Given the description of an element on the screen output the (x, y) to click on. 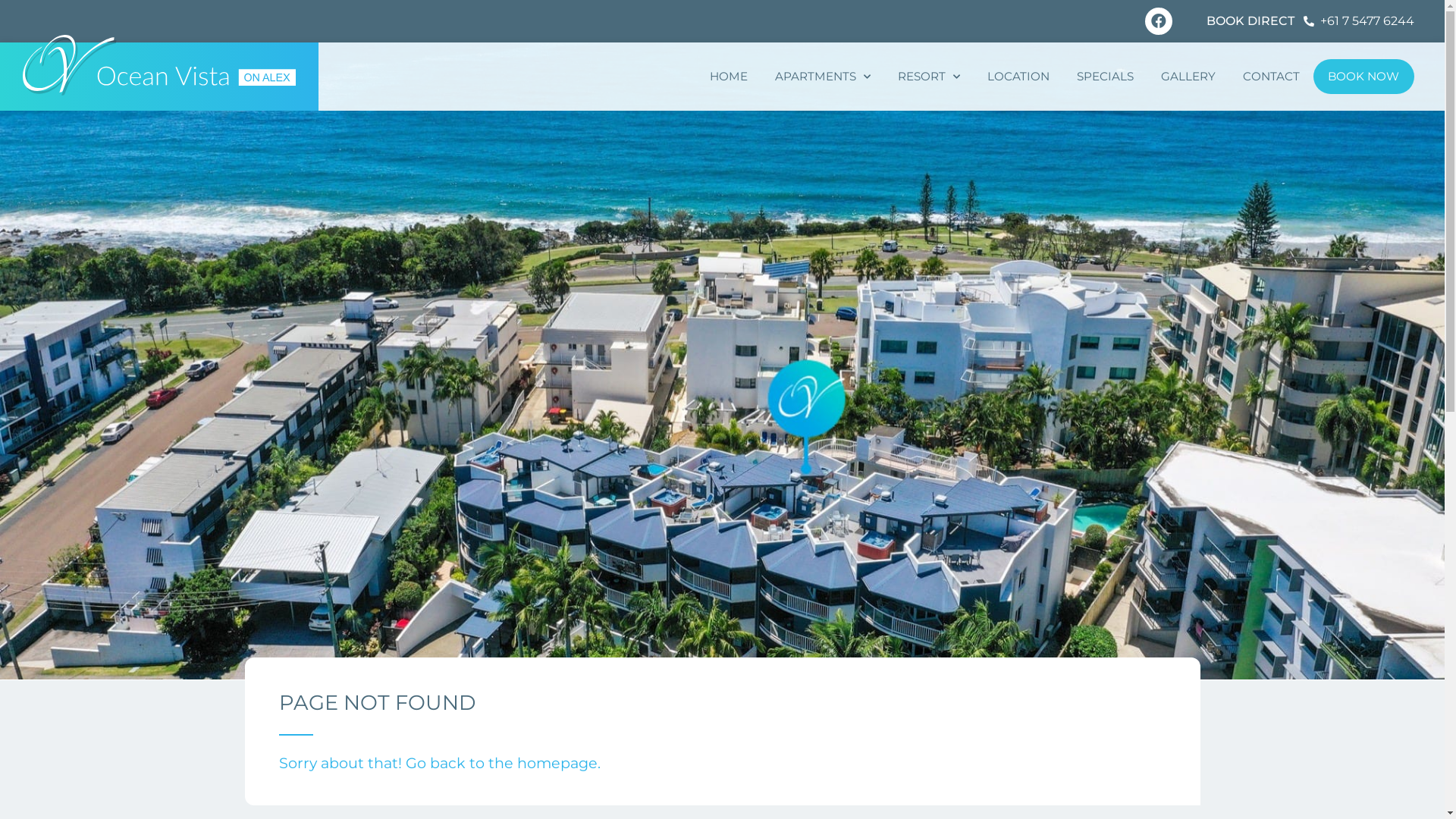
Sorry about that! Go back to the homepage. Element type: text (439, 762)
GALLERY Element type: text (1187, 76)
HOME Element type: text (728, 76)
SPECIALS Element type: text (1105, 76)
CONTACT Element type: text (1270, 76)
RESORT Element type: text (928, 76)
BOOK NOW Element type: text (1364, 76)
+61 7 5477 6244 Element type: text (1358, 21)
APARTMENTS Element type: text (822, 76)
LOCATION Element type: text (1018, 76)
